Given the description of an element on the screen output the (x, y) to click on. 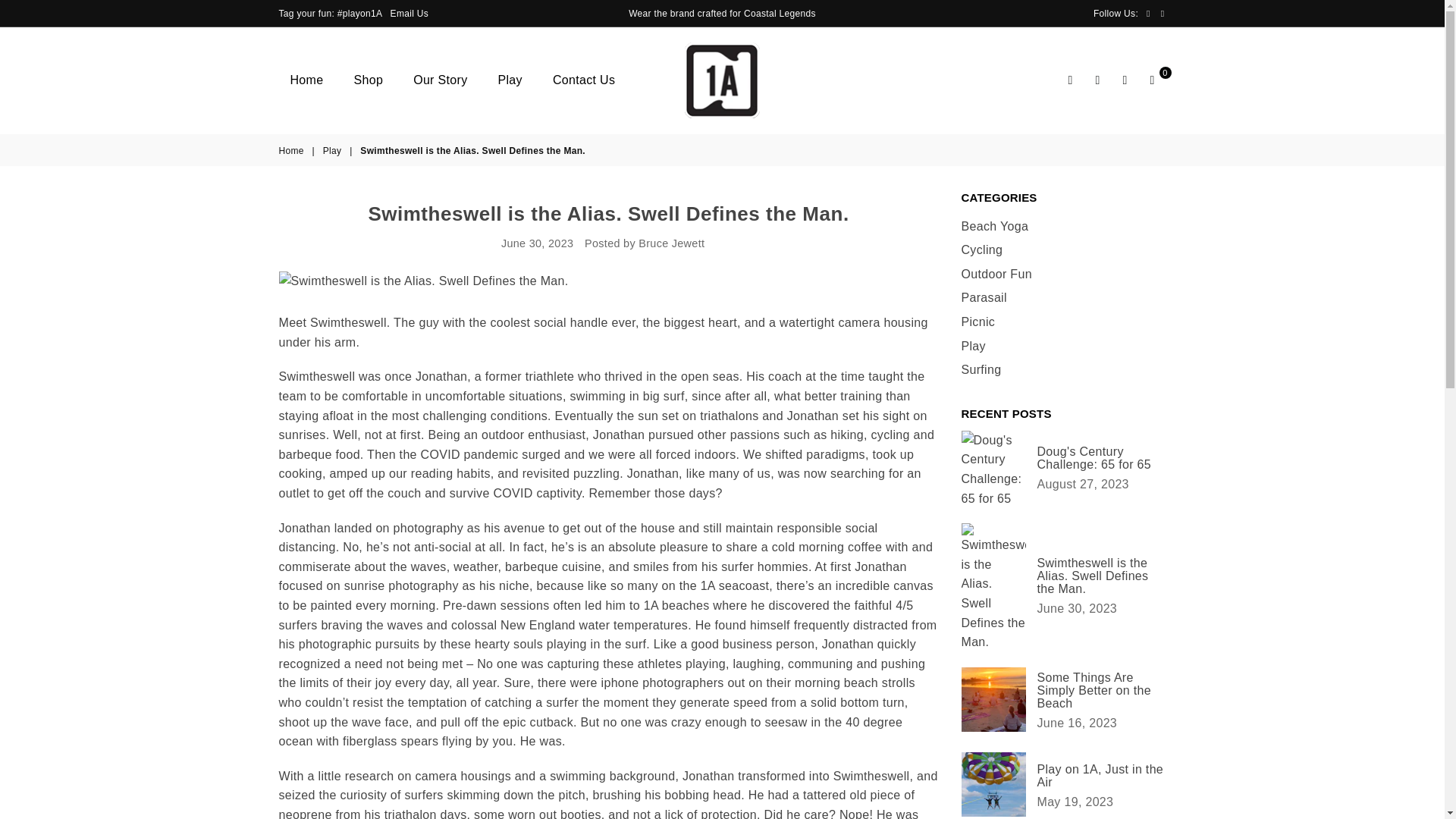
PLAY ON 1A (722, 79)
Facebook (1148, 13)
Email Us (409, 12)
Shop (368, 80)
0 (1152, 79)
Our Story (440, 80)
PLAY ON 1A on Facebook (1148, 13)
Search (1070, 79)
Show articles tagged Beach Yoga (994, 226)
Back to the home page (292, 151)
Play (509, 80)
PLAY ON 1A on Instagram (1163, 13)
Cart (1152, 79)
Contact Us (583, 80)
Settings (1098, 79)
